Given the description of an element on the screen output the (x, y) to click on. 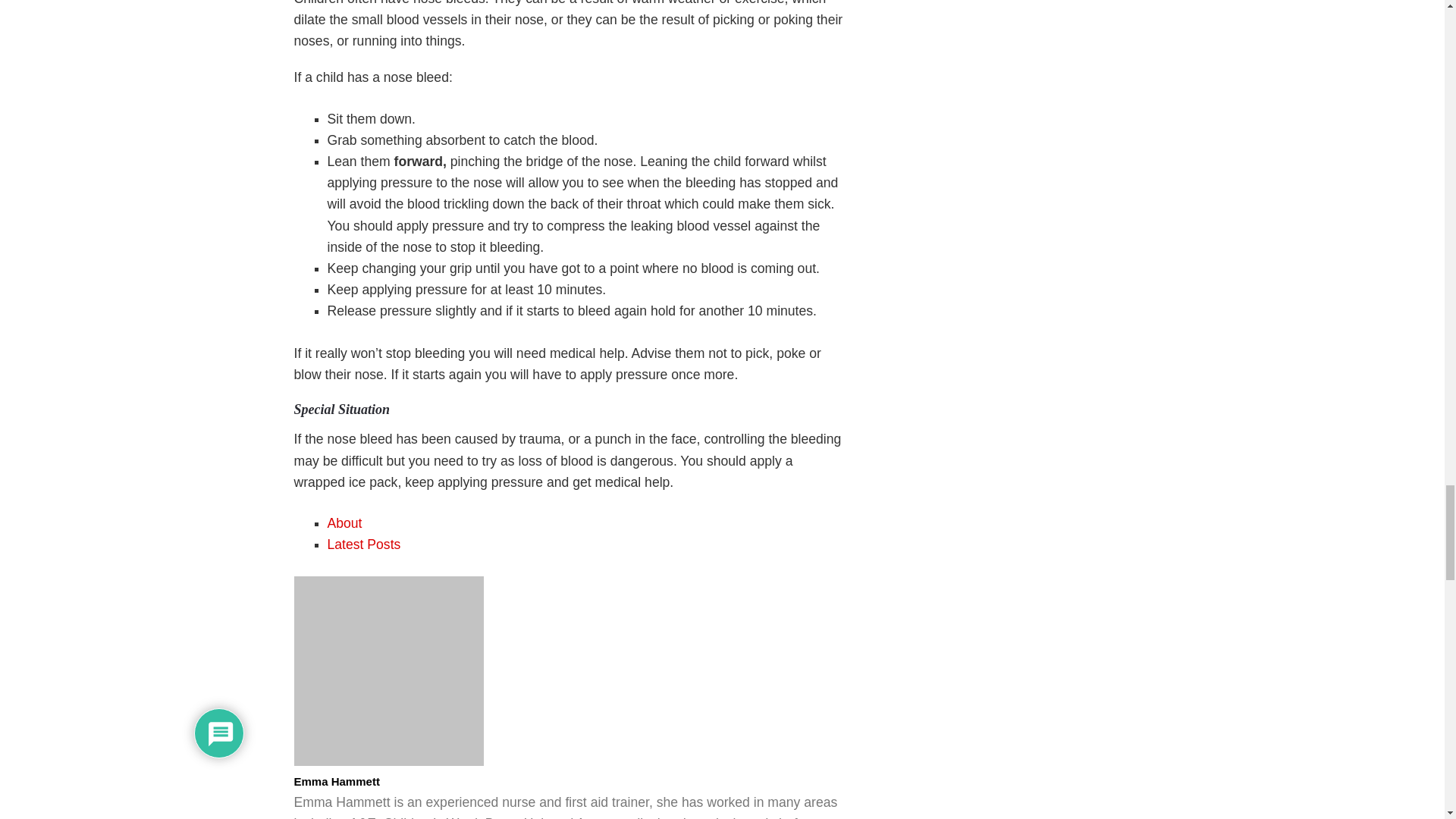
Emma Hammett (388, 761)
